Given the description of an element on the screen output the (x, y) to click on. 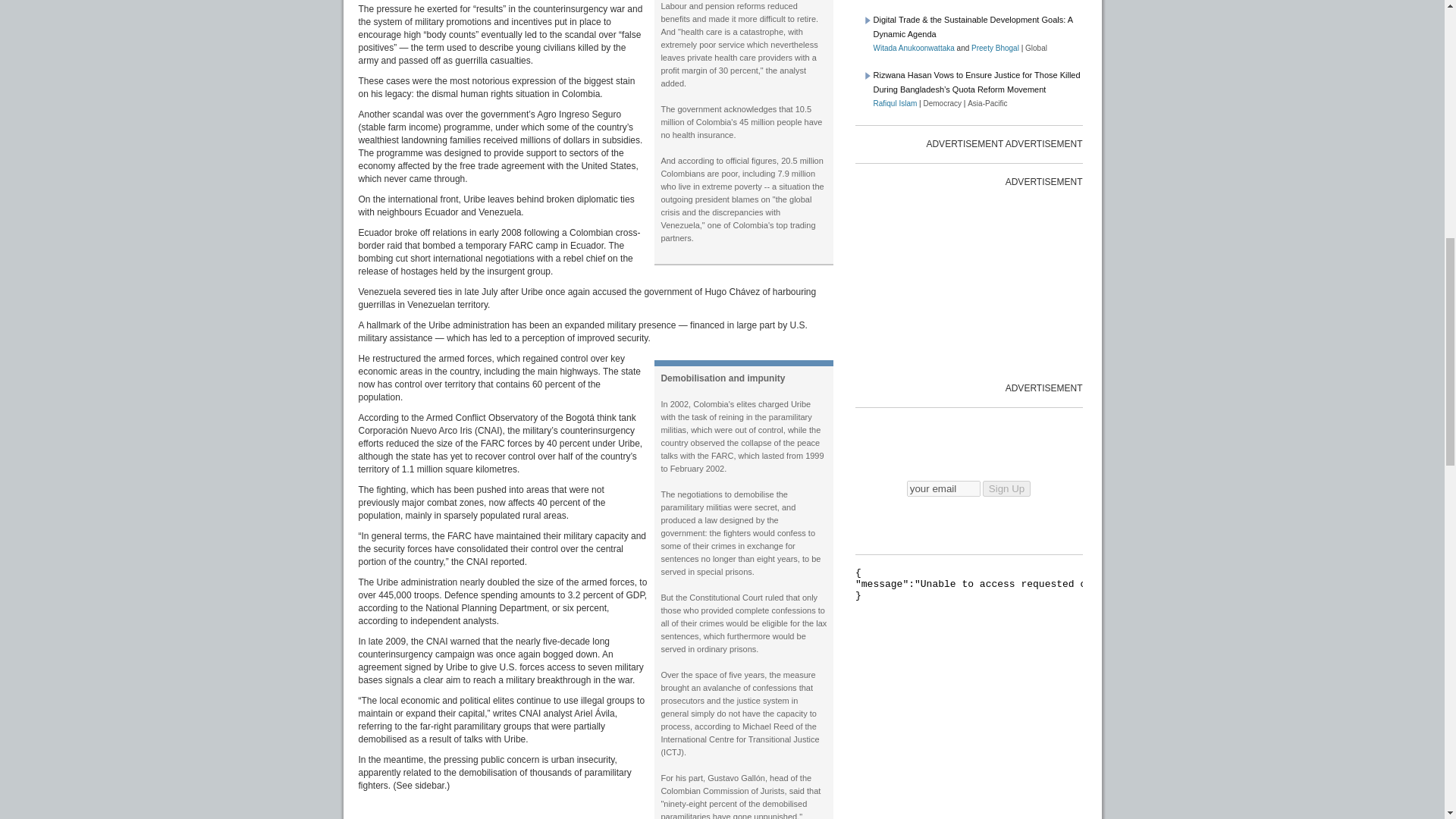
Sign Up (1006, 488)
Posts by Rafiqul Islam (895, 103)
Posts by Preety Bhogal (995, 48)
Posts by Witada Anukoonwattaka (914, 48)
your email (943, 488)
